Given the description of an element on the screen output the (x, y) to click on. 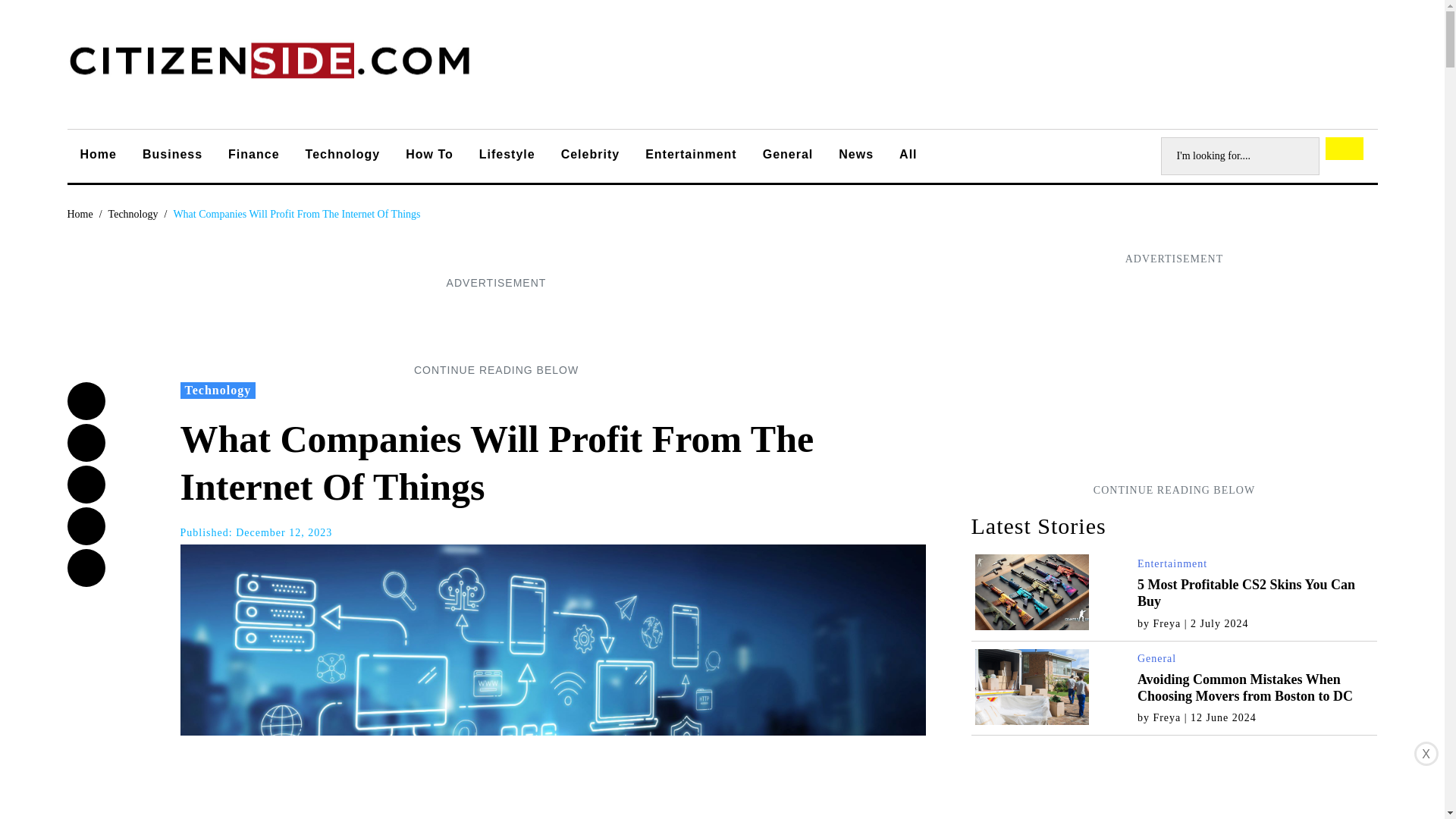
LinkedIn (85, 525)
Share on Facebook (85, 401)
Business (172, 156)
General (788, 156)
5 Most Profitable CS2 Skins You Can Buy (1246, 593)
Home (79, 214)
News (855, 156)
Facebook (85, 401)
Share on LinkedIn (85, 525)
